Given the description of an element on the screen output the (x, y) to click on. 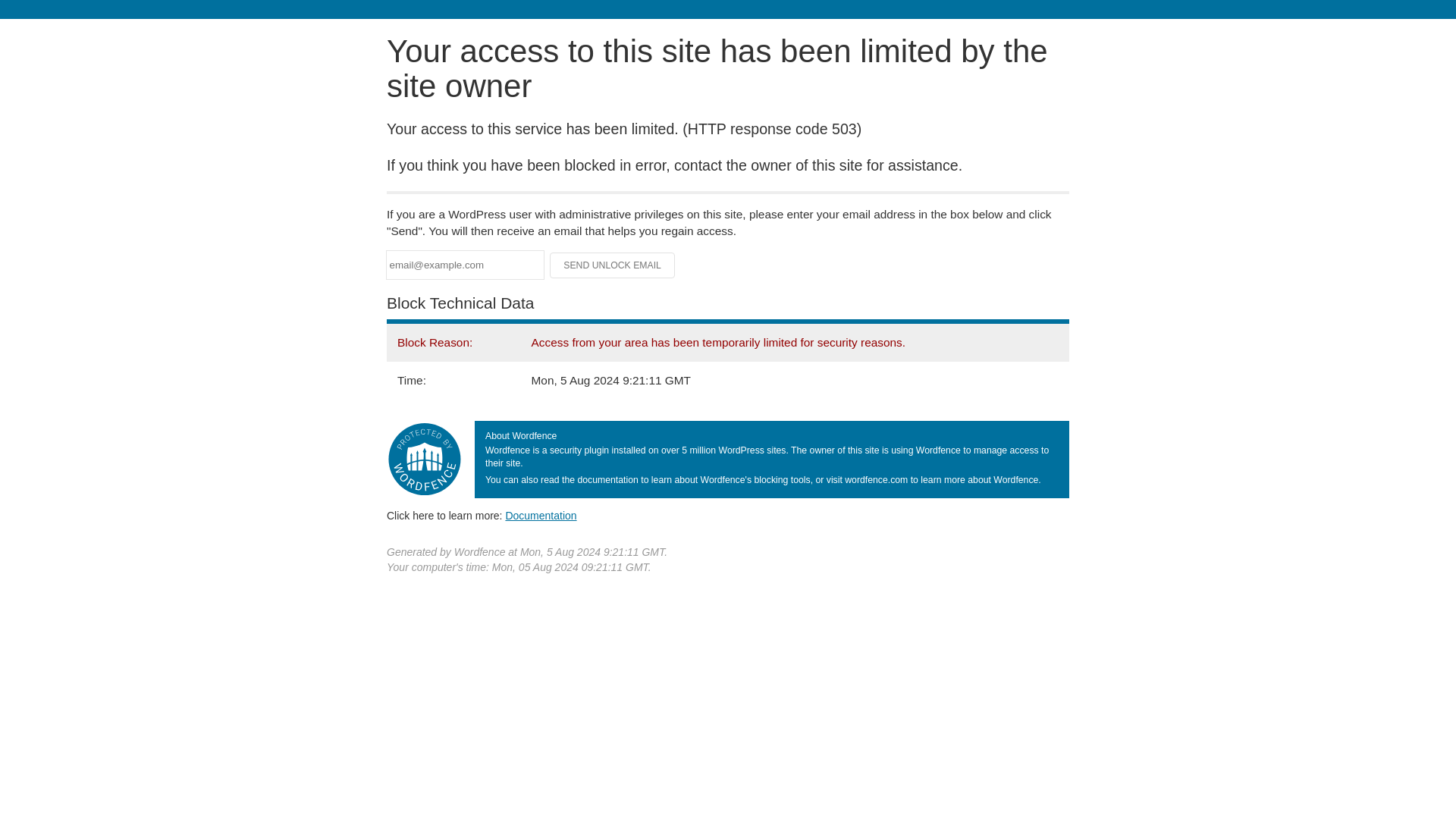
Documentation (540, 515)
Send Unlock Email (612, 265)
Send Unlock Email (612, 265)
